Given the description of an element on the screen output the (x, y) to click on. 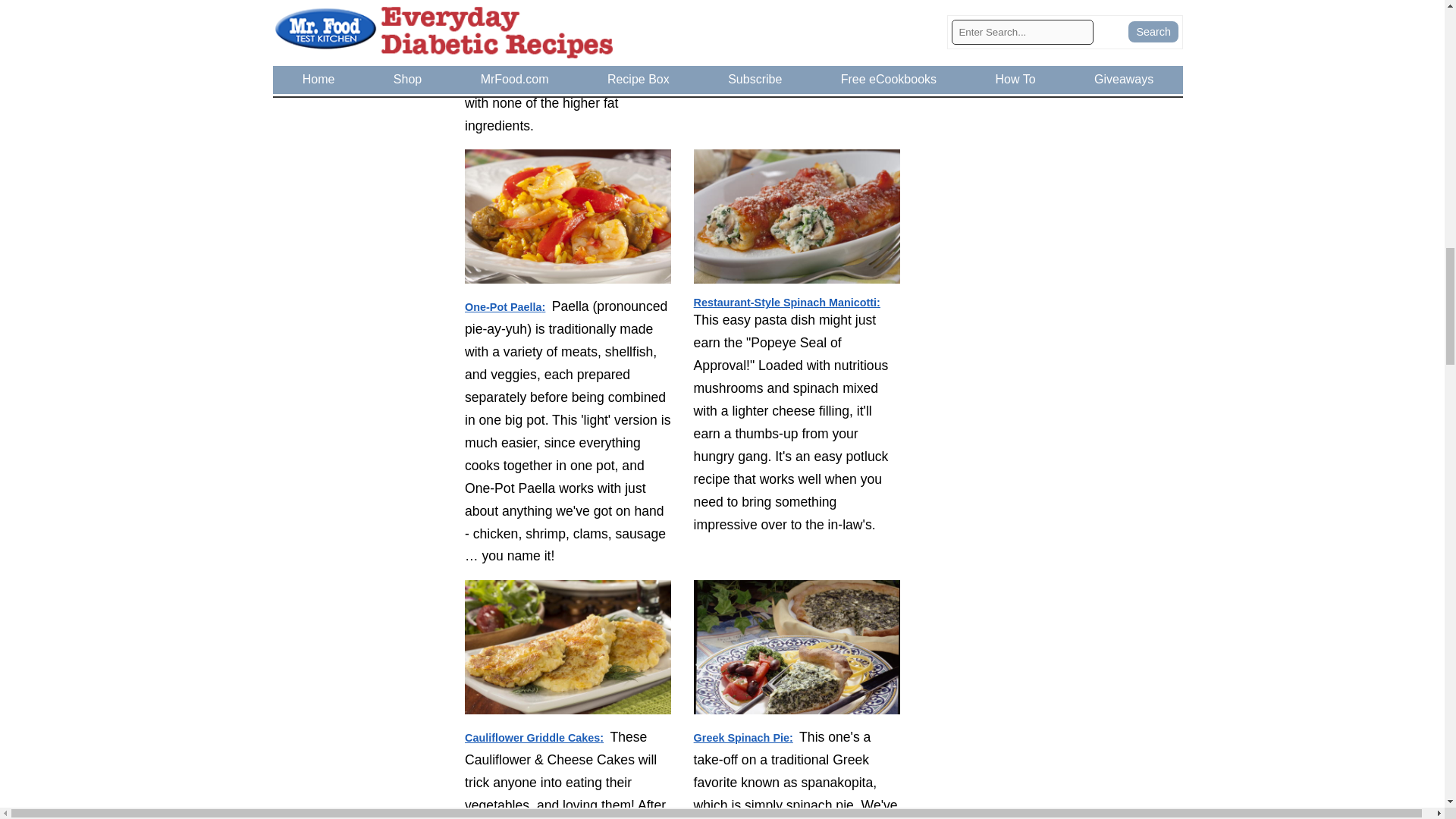
Greek Spinach Pie (796, 657)
Restaurant-Style Spinach Manicotti (796, 217)
One-Pot Paella (568, 217)
Cauliflower Griddle Cakes (568, 648)
